Given the description of an element on the screen output the (x, y) to click on. 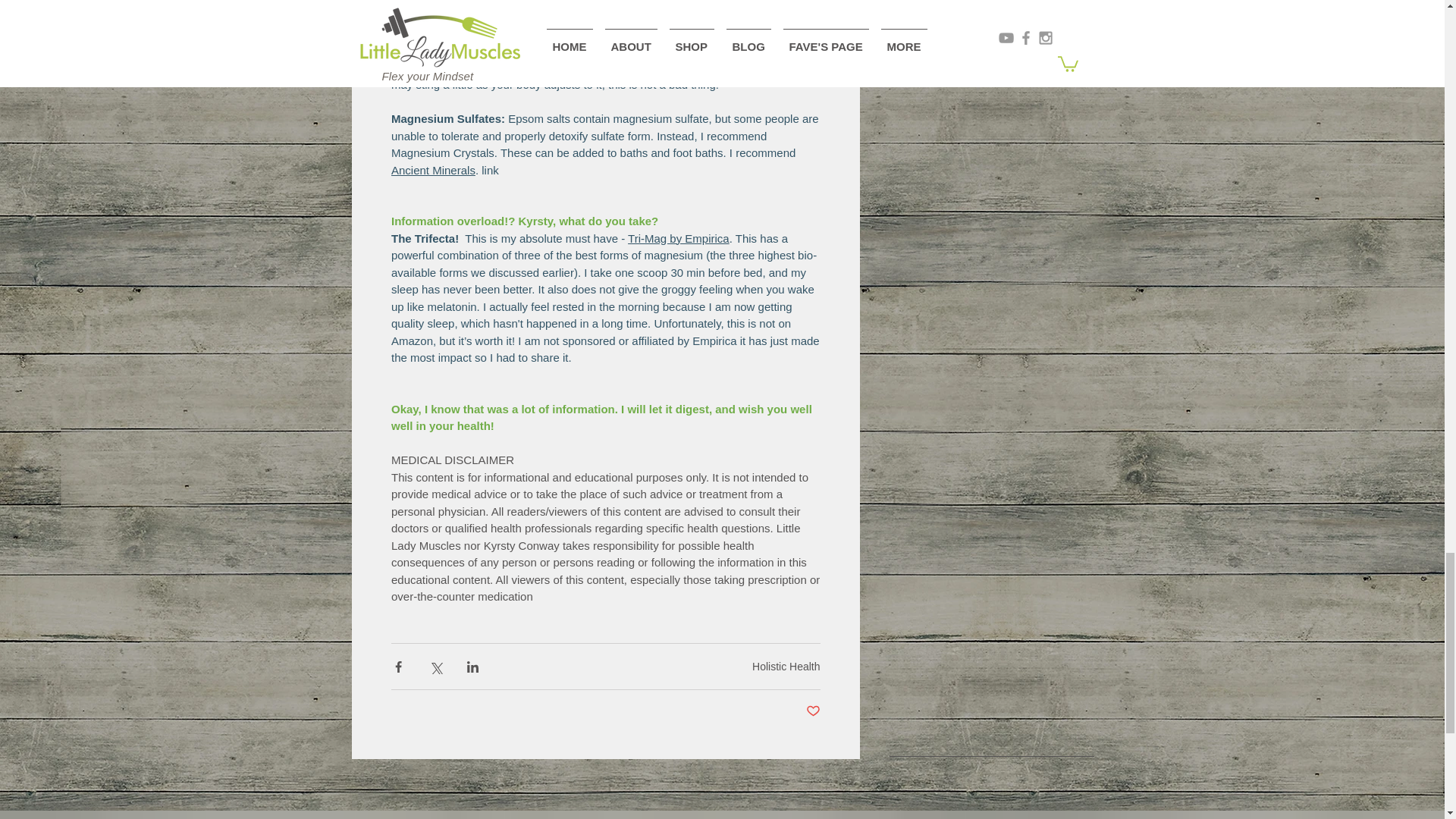
Post not marked as liked (812, 711)
lotion (709, 66)
Holistic Health (785, 666)
Tri-Mag by Empirica (678, 237)
Ancient Minerals (433, 169)
spray (665, 66)
